Given the description of an element on the screen output the (x, y) to click on. 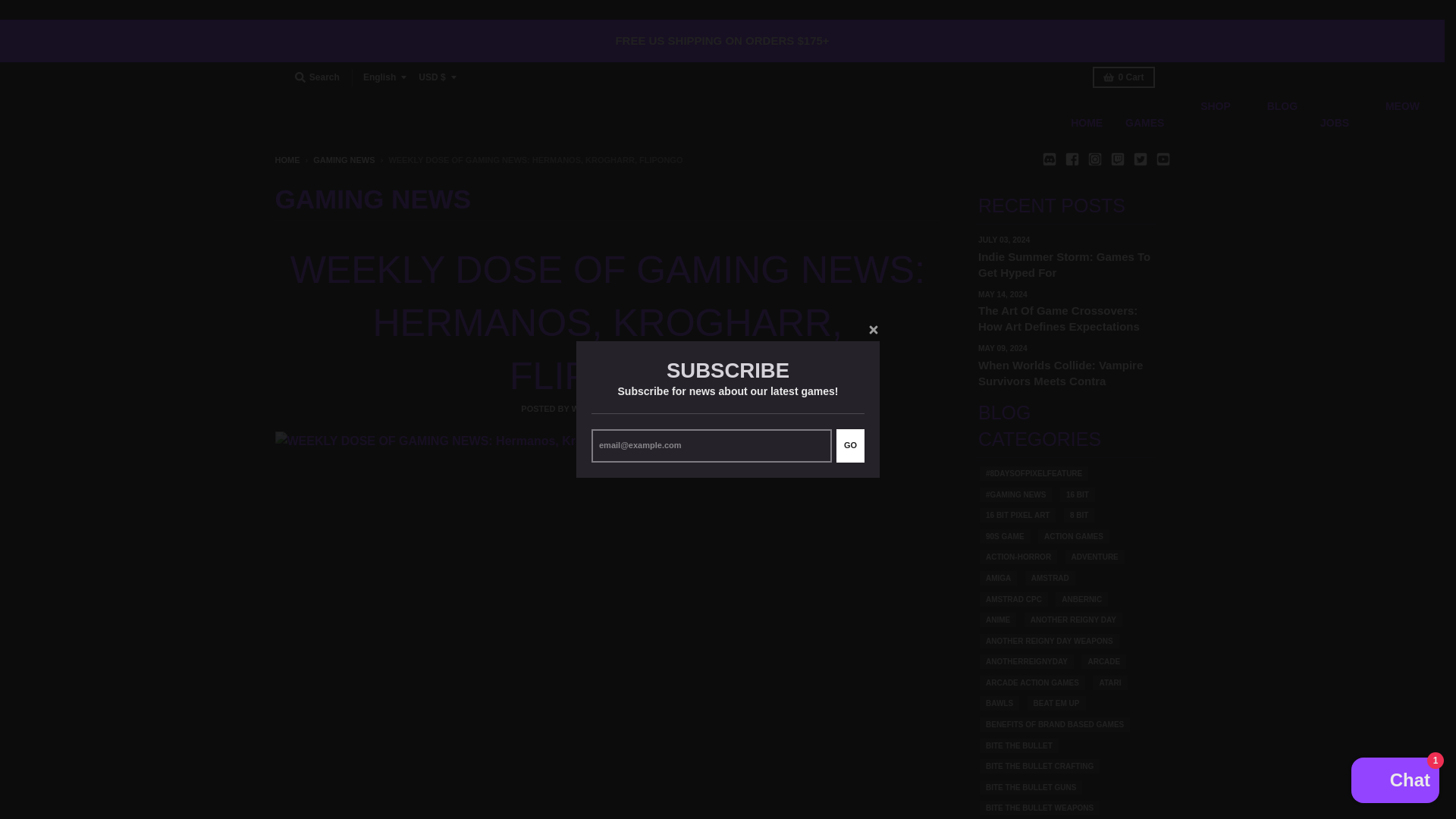
Search (316, 76)
0 Cart (1123, 76)
GAMES (1144, 122)
BLOG (1275, 114)
SHOP (1208, 114)
Back to the frontpage (287, 159)
HOME (1086, 122)
English (384, 77)
